Given the description of an element on the screen output the (x, y) to click on. 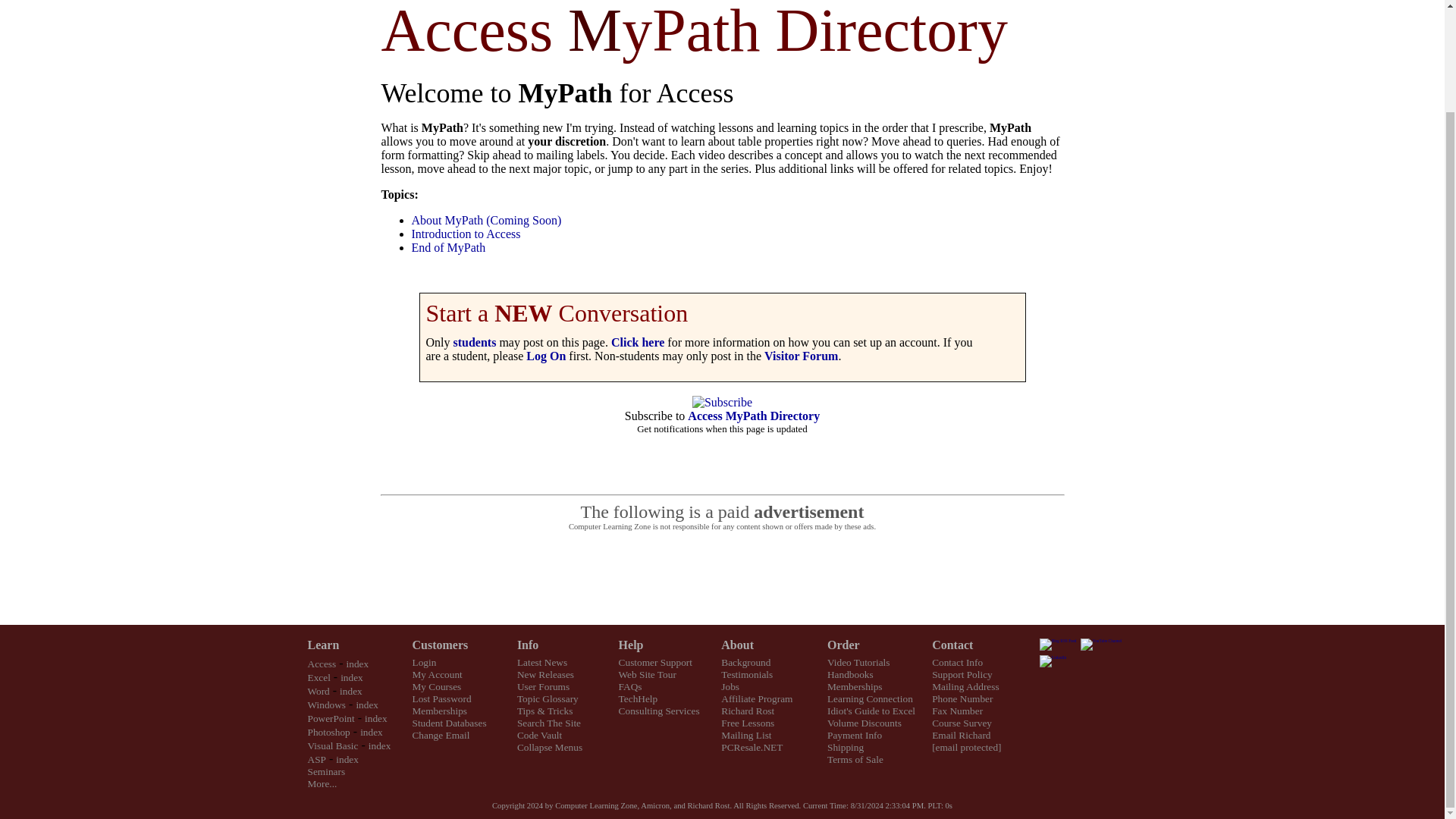
Click here (637, 341)
index (357, 663)
Access (321, 663)
Log On (545, 355)
Introduction to Access (464, 233)
Visitor Forum (801, 355)
Learn (323, 644)
students (474, 341)
End of MyPath (447, 246)
Access MyPath Directory (753, 415)
